Given the description of an element on the screen output the (x, y) to click on. 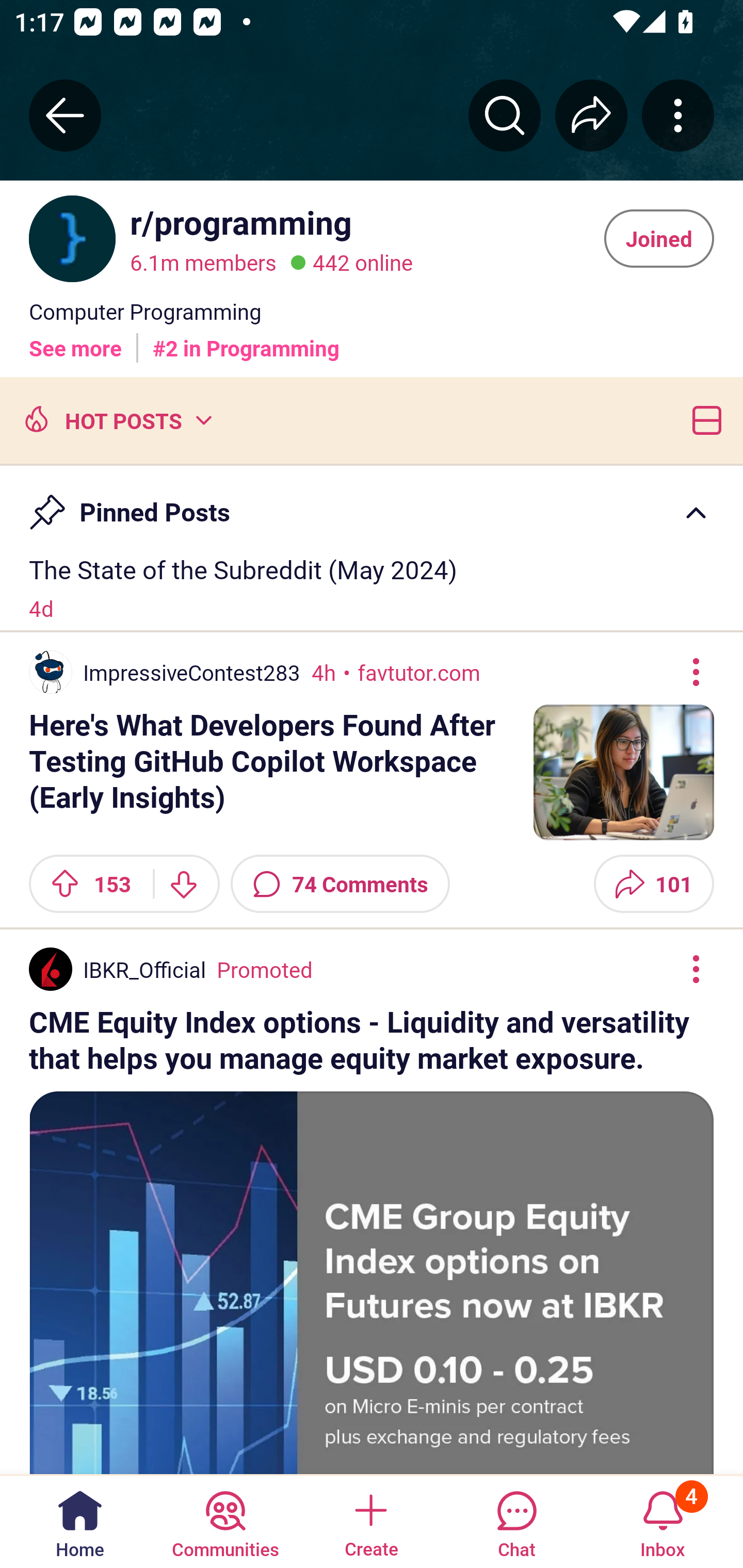
Back (64, 115)
Search r/﻿programming (504, 115)
Share r/﻿programming (591, 115)
More community actions (677, 115)
Hot posts HOT POSTS (116, 419)
Card (703, 419)
Pin Pinned Posts Caret (371, 503)
The State of the Subreddit (May 2024) 4d (371, 587)
Home (80, 1520)
Communities (225, 1520)
Create a post Create (370, 1520)
Chat (516, 1520)
Inbox, has 4 notifications 4 Inbox (662, 1520)
